Given the description of an element on the screen output the (x, y) to click on. 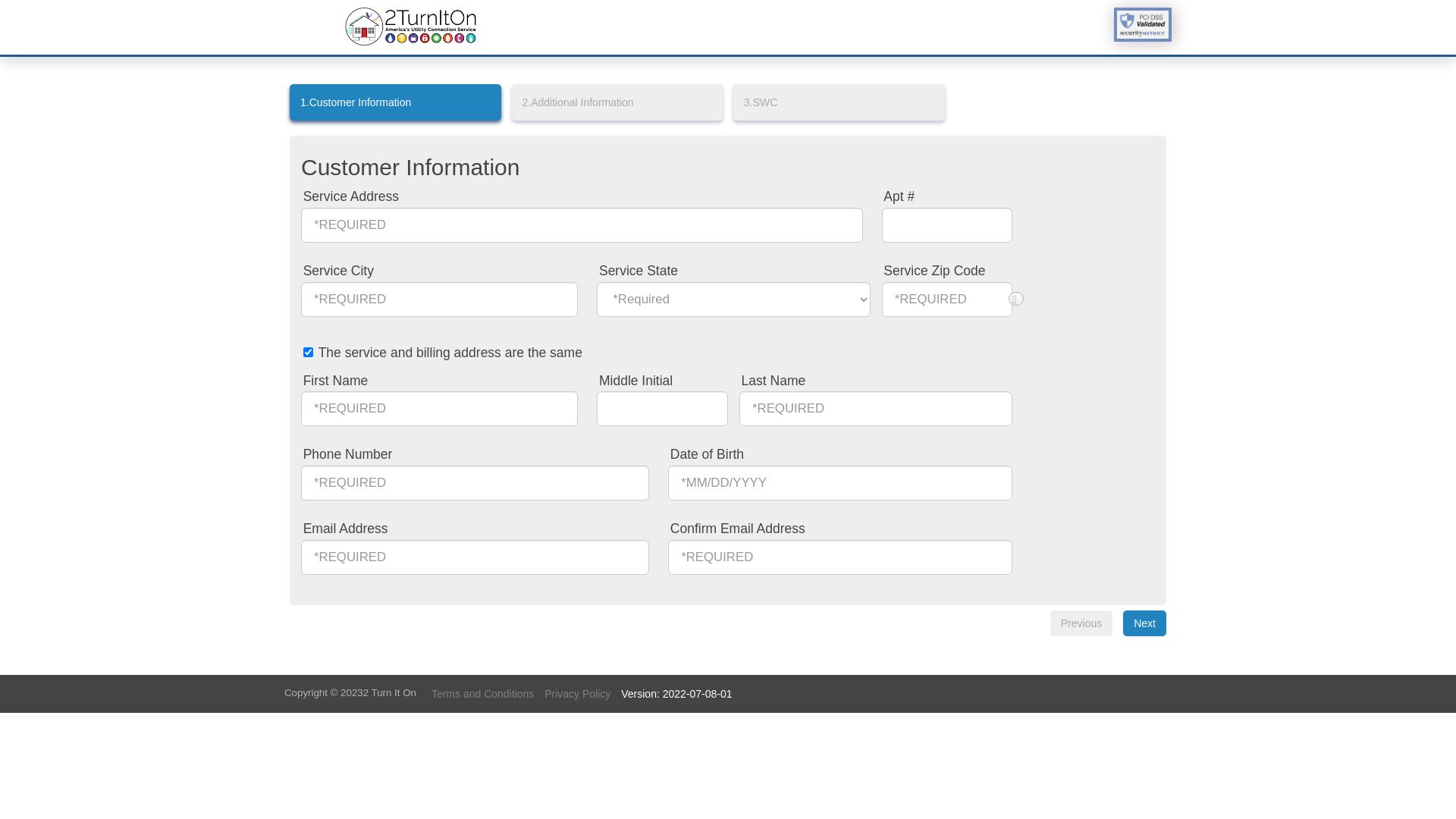
Terms and Conditions Element type: text (482, 693)
2.Additional Information Element type: text (616, 102)
3.SWC Element type: text (838, 102)
Next Element type: text (1144, 623)
Previous Element type: text (1081, 623)
1.Customer Information Element type: text (395, 102)
Privacy Policy Element type: text (577, 693)
